Given the description of an element on the screen output the (x, y) to click on. 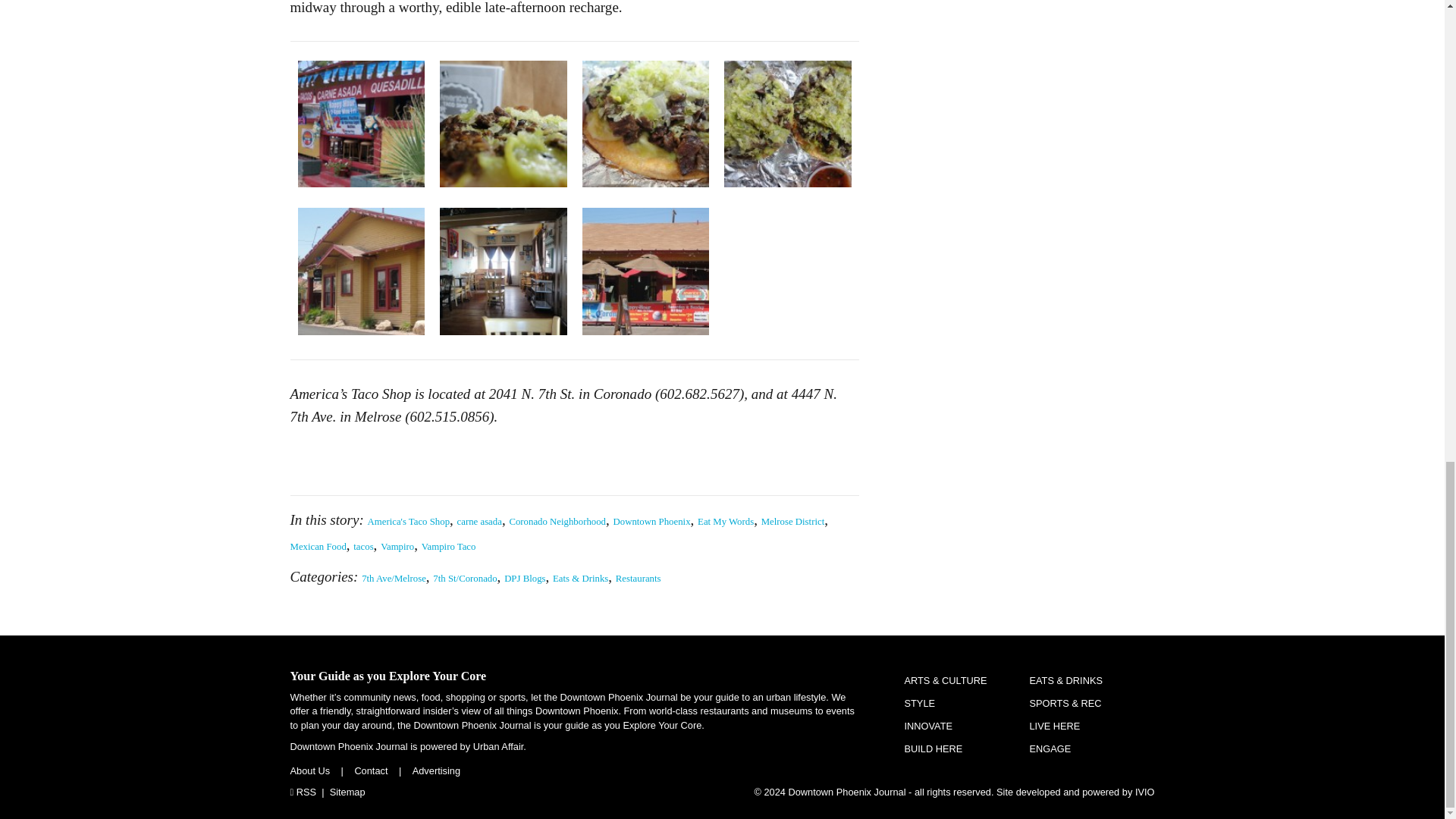
Eat My Words (725, 521)
Vampiro Taco (449, 546)
Vampiro (396, 546)
tacos (362, 546)
Melrose District (793, 521)
Mexican Food (317, 546)
Coronado Neighborhood (556, 521)
Downtown Phoenix (651, 521)
America's Taco Shop (408, 521)
carne asada (479, 521)
